Given the description of an element on the screen output the (x, y) to click on. 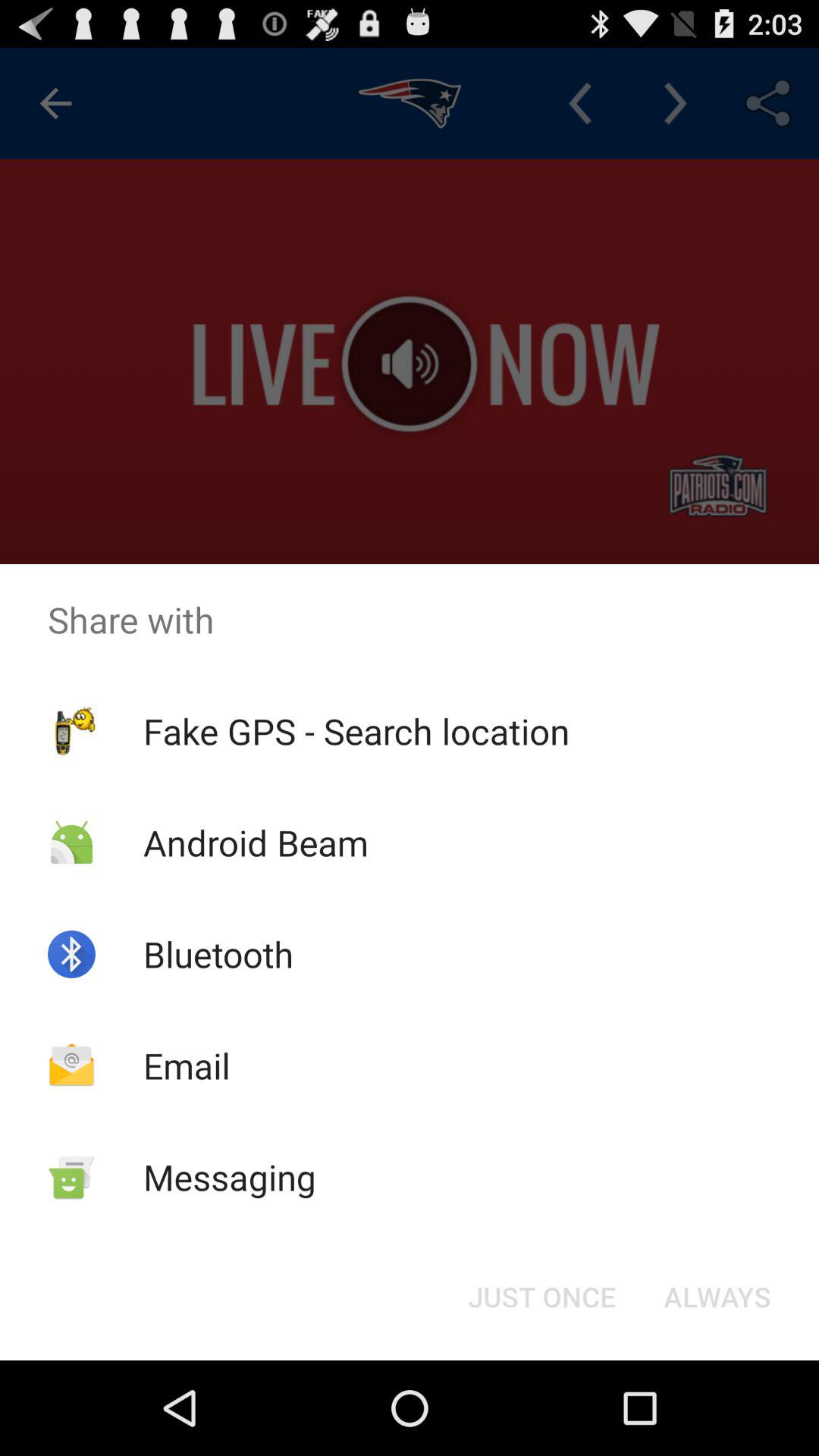
scroll until bluetooth item (218, 953)
